Given the description of an element on the screen output the (x, y) to click on. 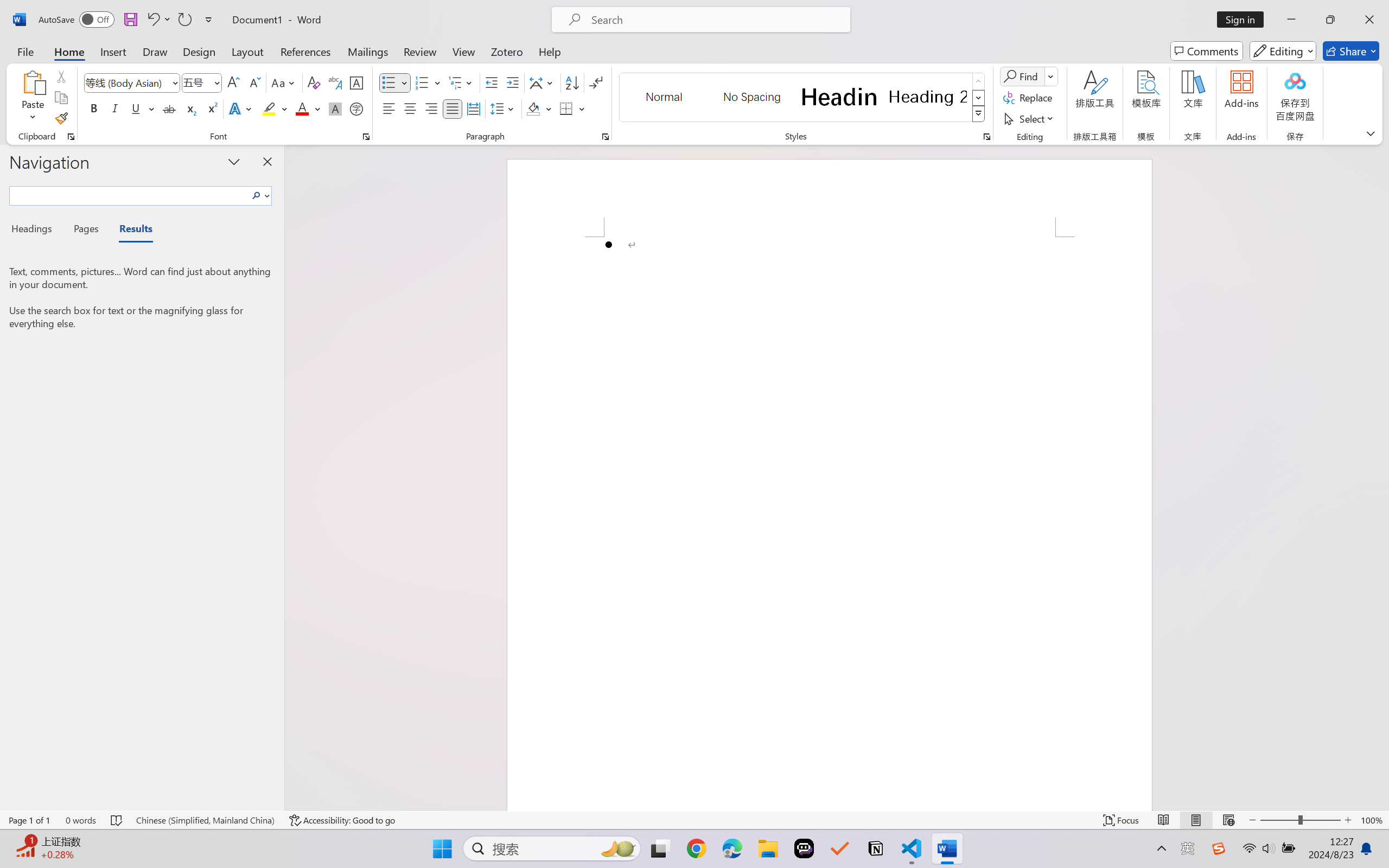
Undo Bullet Default (152, 19)
Repeat Bullet Default (184, 19)
